Given the description of an element on the screen output the (x, y) to click on. 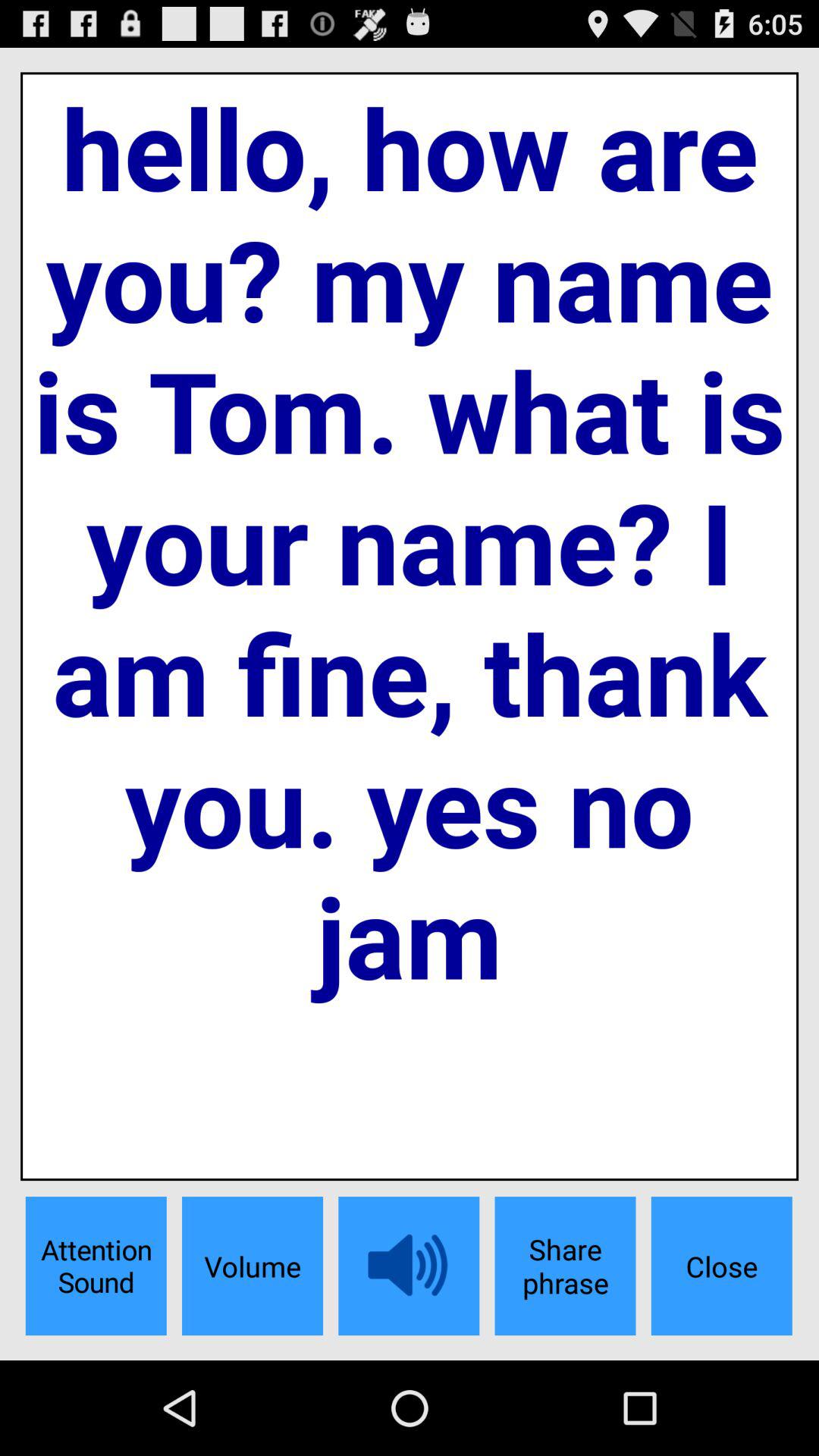
click the icon below hello how are item (564, 1265)
